Given the description of an element on the screen output the (x, y) to click on. 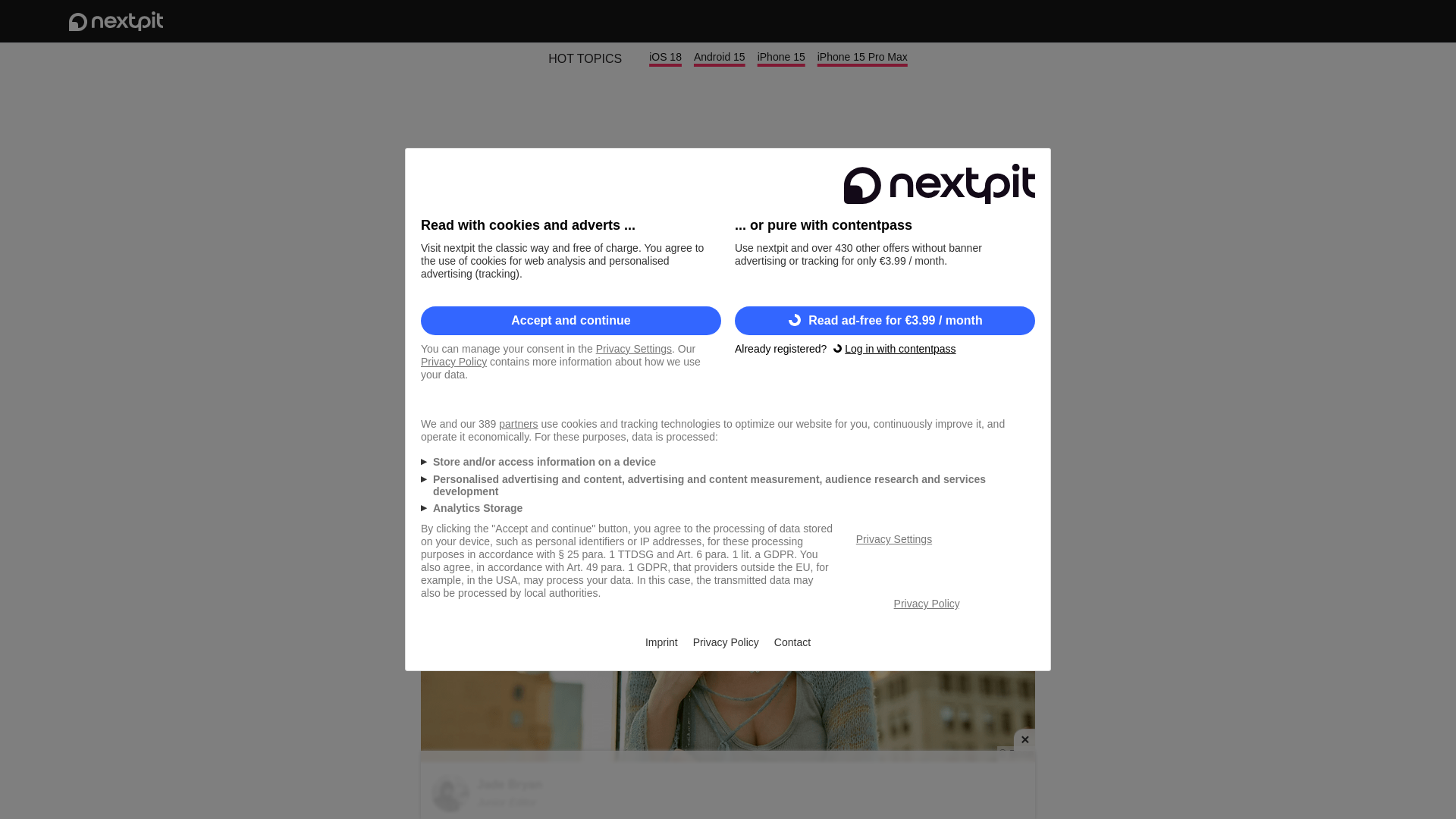
2 min read (452, 396)
Feb 18, 2024, 7:00:00 PM (981, 397)
To the nextpit homepage (115, 21)
Login (1325, 21)
